Given the description of an element on the screen output the (x, y) to click on. 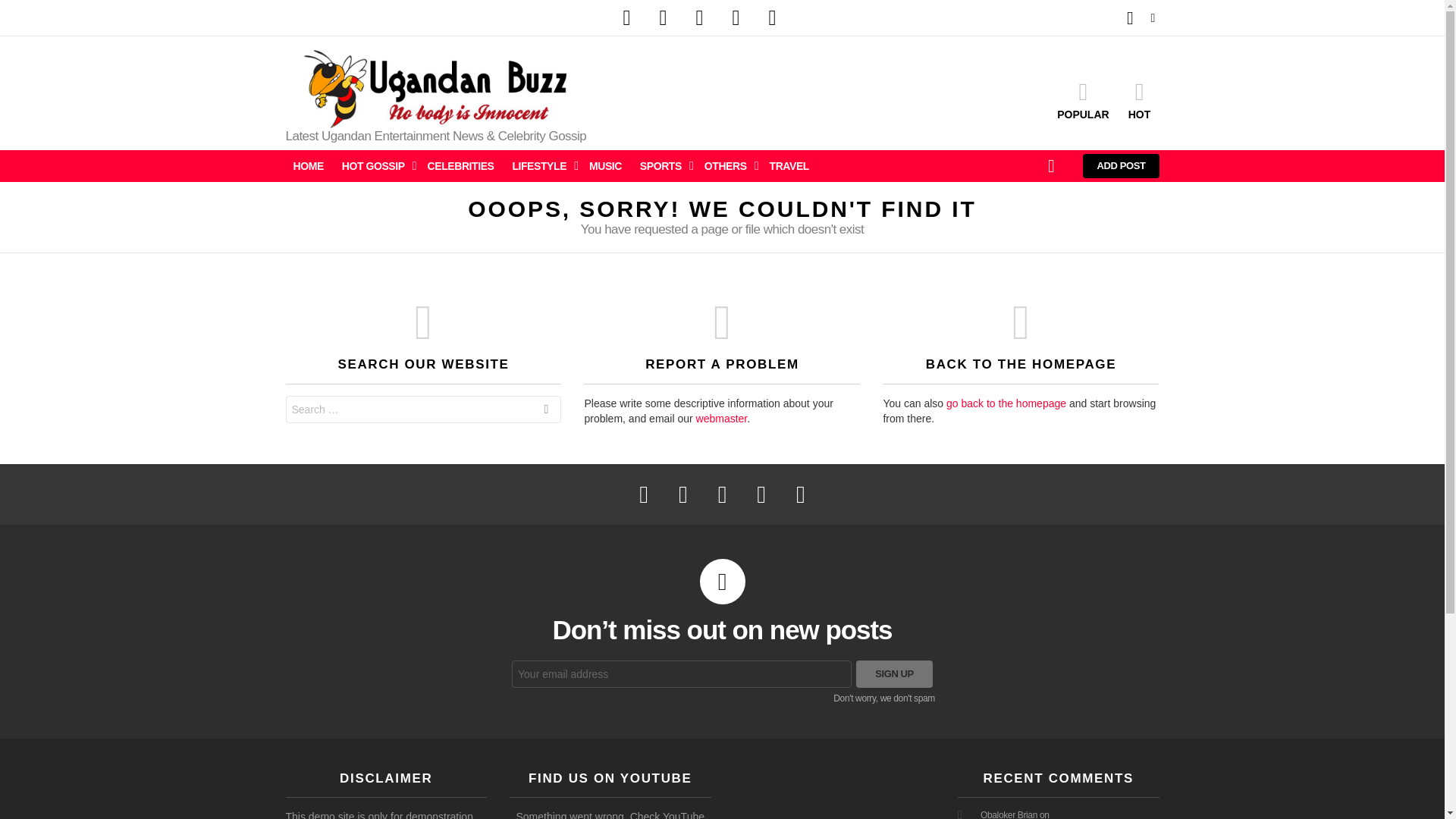
LIFESTYLE (540, 165)
HOME (307, 165)
Sign up (894, 673)
HOT GOSSIP (375, 165)
Search for: (422, 409)
pinterest (735, 18)
SPORTS (662, 165)
twitter (663, 18)
MUSIC (604, 165)
youtube (772, 18)
CELEBRITIES (461, 165)
facebook (626, 18)
OTHERS (727, 165)
HOT (1138, 99)
POPULAR (1082, 99)
